Given the description of an element on the screen output the (x, y) to click on. 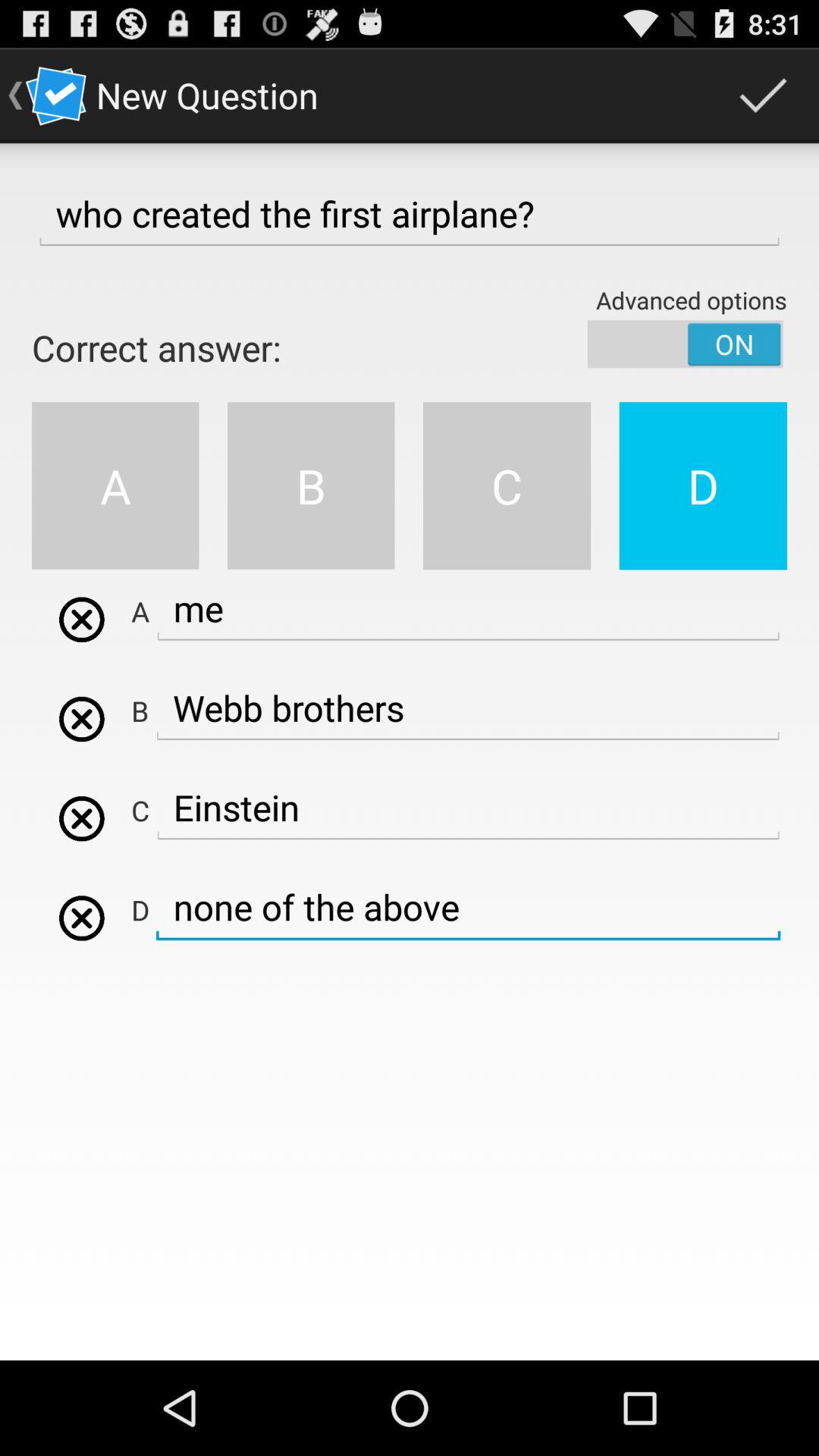
remove option (81, 718)
